Given the description of an element on the screen output the (x, y) to click on. 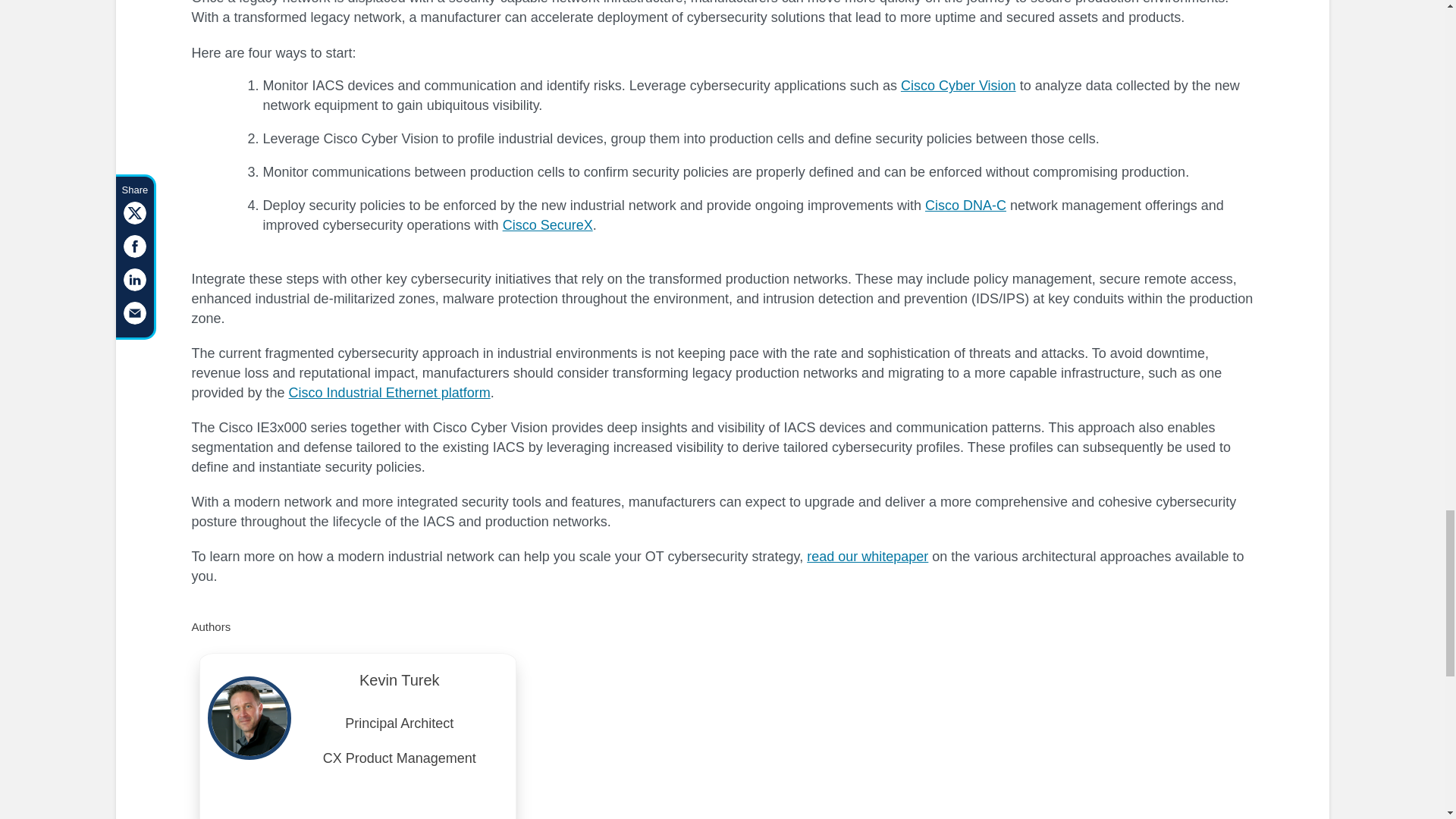
Cisco SecureX (547, 224)
Kevin Turek (399, 684)
read our whitepaper (867, 556)
Cisco Industrial Ethernet platform (389, 392)
Cisco DNA-C (965, 205)
Cisco Cyber Vision (958, 85)
